Given the description of an element on the screen output the (x, y) to click on. 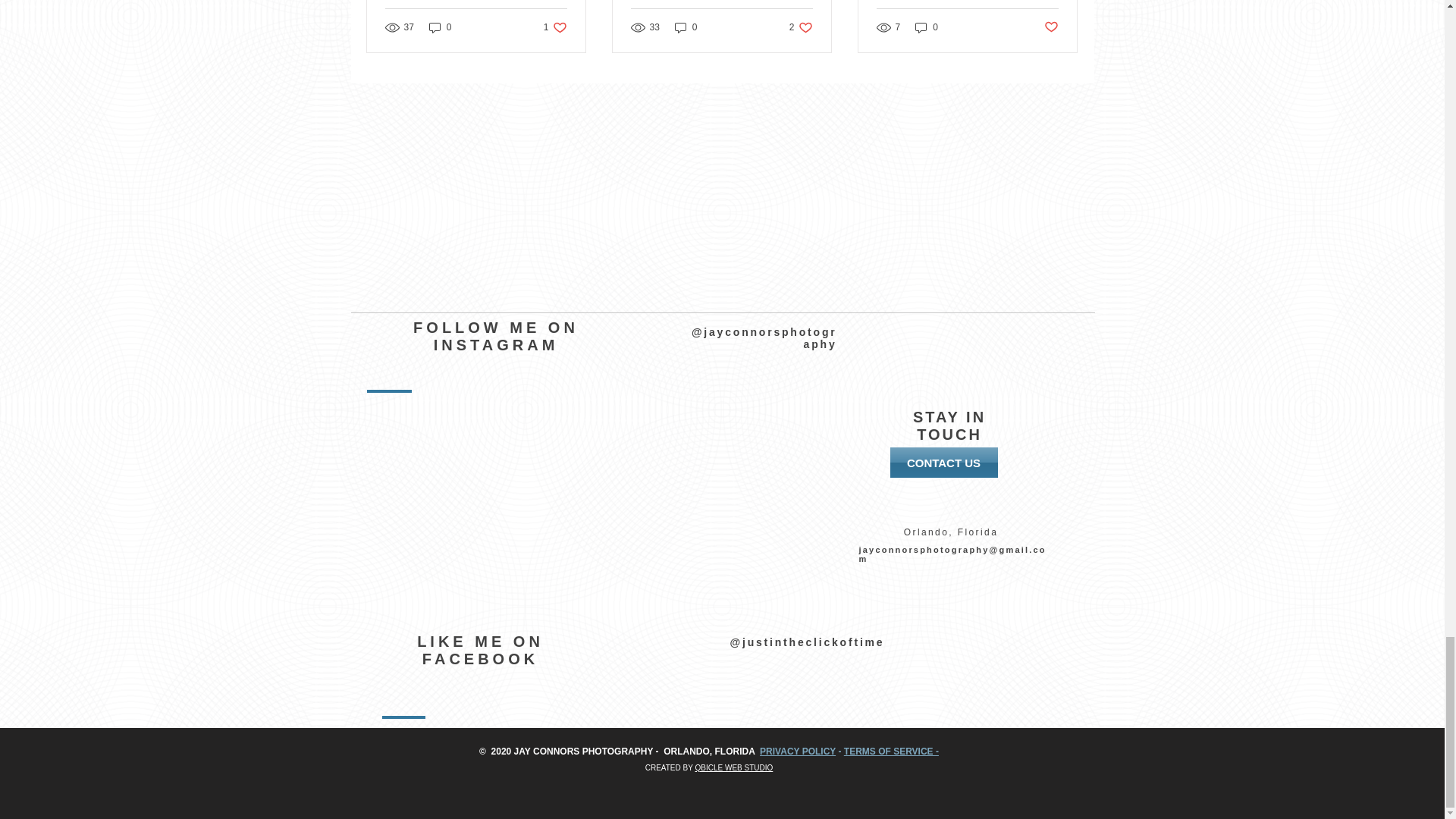
PRIVACY POLICY (797, 751)
CONTACT US (943, 462)
0 (800, 27)
0 (555, 27)
TERMS OF SERVICE - (685, 27)
0 (440, 27)
Post not marked as liked (891, 751)
QBICLE WEB STUDIO (926, 27)
